Given the description of an element on the screen output the (x, y) to click on. 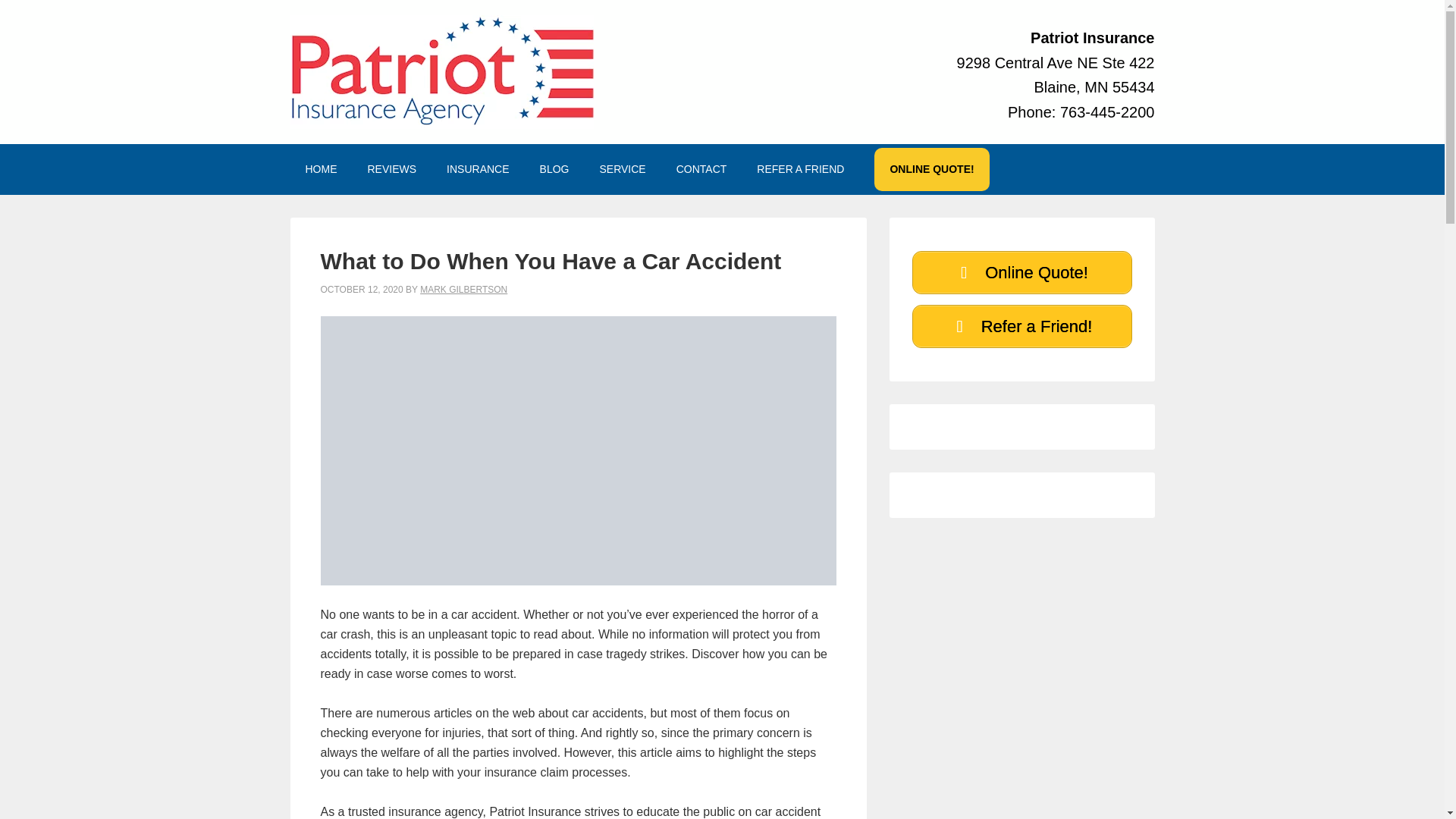
CONTACT (701, 169)
Refer a Friend! (1021, 326)
INSURANCE (477, 169)
MARK GILBERTSON (463, 289)
SERVICE (622, 169)
ONLINE QUOTE! (931, 169)
REVIEWS (391, 169)
Online Quote! (1021, 272)
763-445-2200 (1106, 112)
HOME (320, 169)
